Given the description of an element on the screen output the (x, y) to click on. 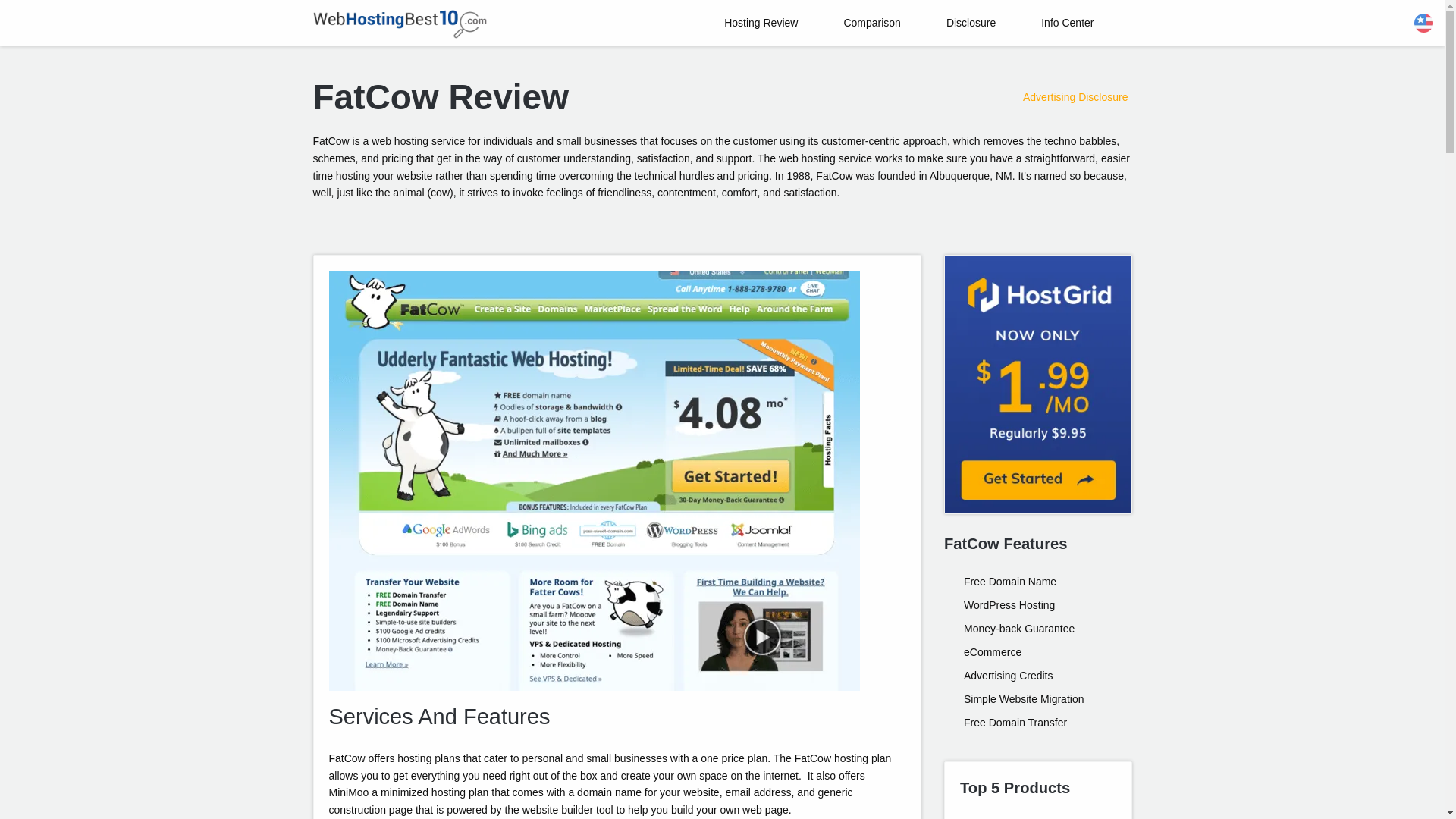
Hosting Review (760, 22)
Advertising Disclosure (1075, 96)
Info Center (1067, 22)
Go to Home (399, 24)
Comparison (871, 22)
Disclosure (970, 22)
